Given the description of an element on the screen output the (x, y) to click on. 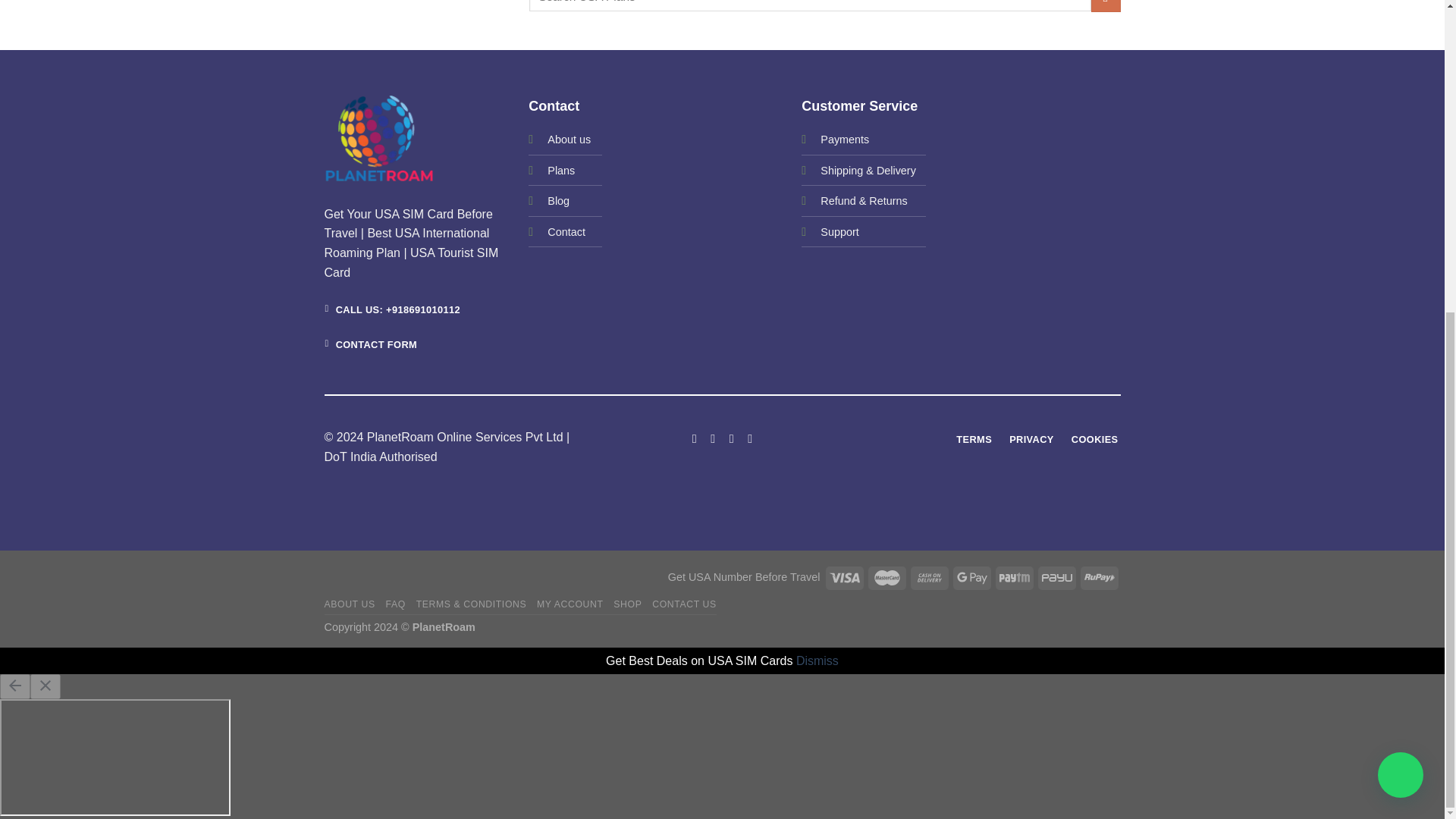
Payments (845, 139)
CONTACT FORM (371, 344)
About us (569, 138)
Blog (558, 200)
Support (840, 232)
Contact (566, 232)
Plans (561, 170)
